Given the description of an element on the screen output the (x, y) to click on. 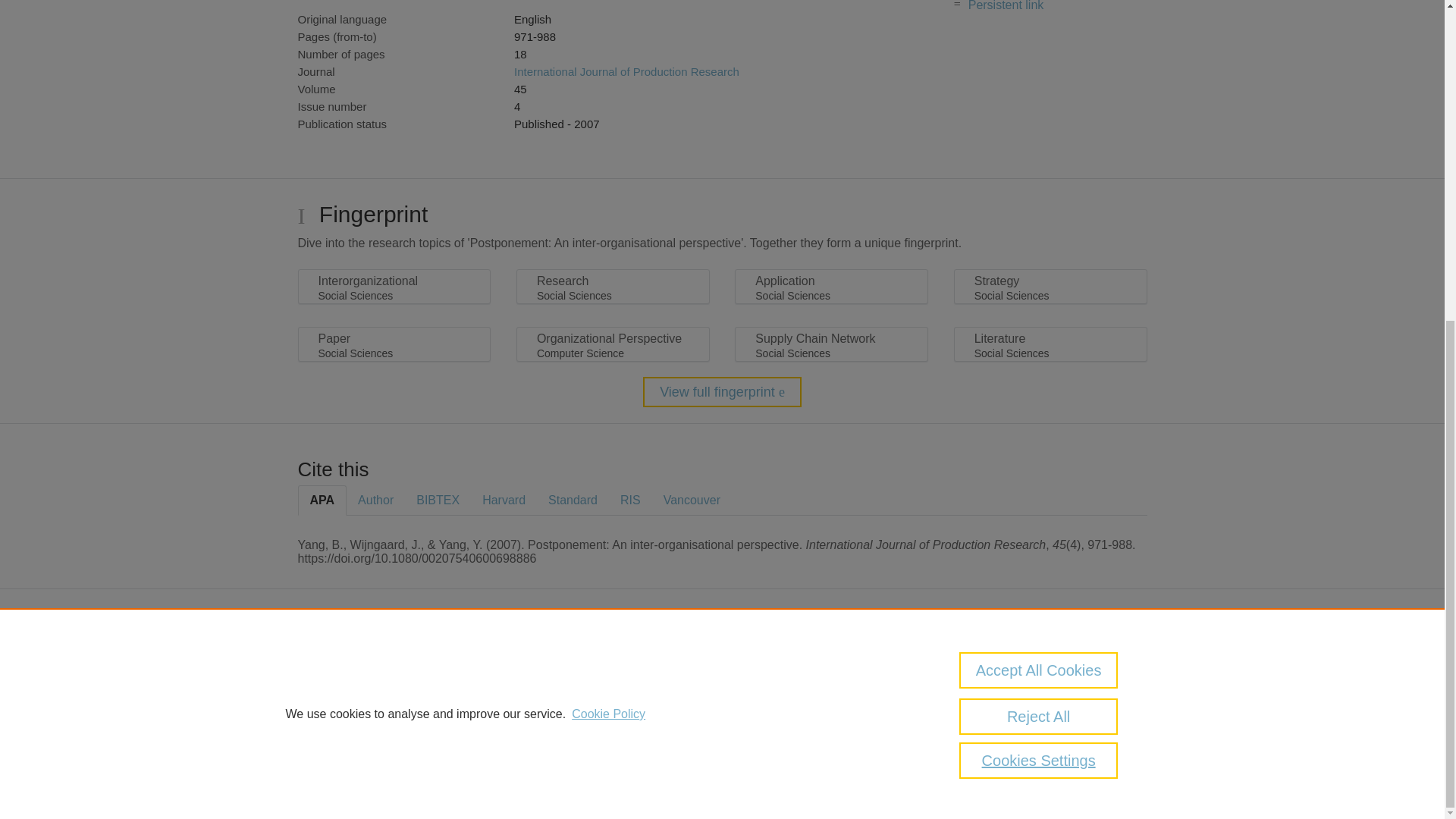
Persistent link (1005, 5)
Pure (620, 664)
View full fingerprint (722, 391)
International Journal of Production Research (626, 71)
